Given the description of an element on the screen output the (x, y) to click on. 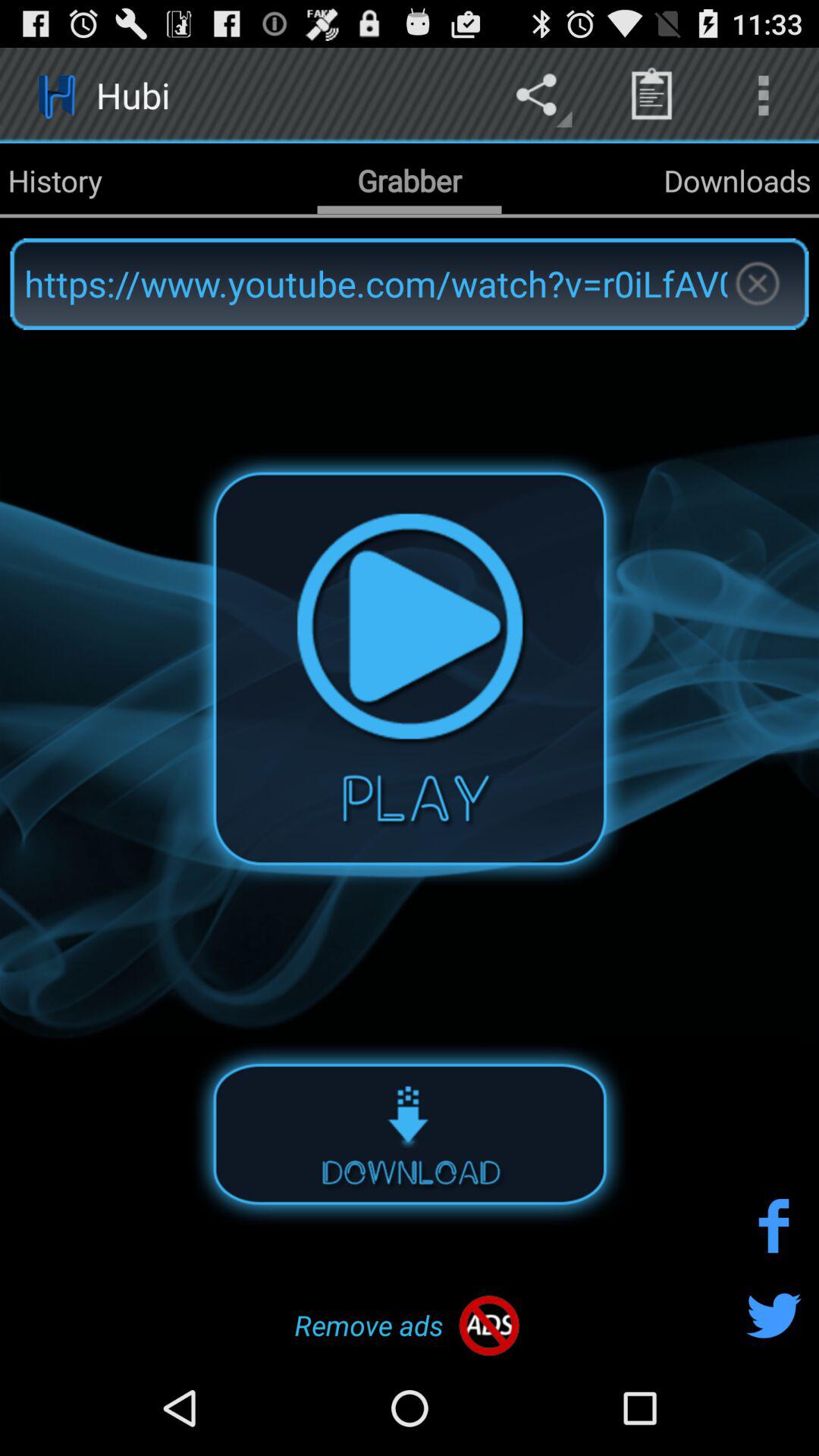
play button (409, 667)
